Given the description of an element on the screen output the (x, y) to click on. 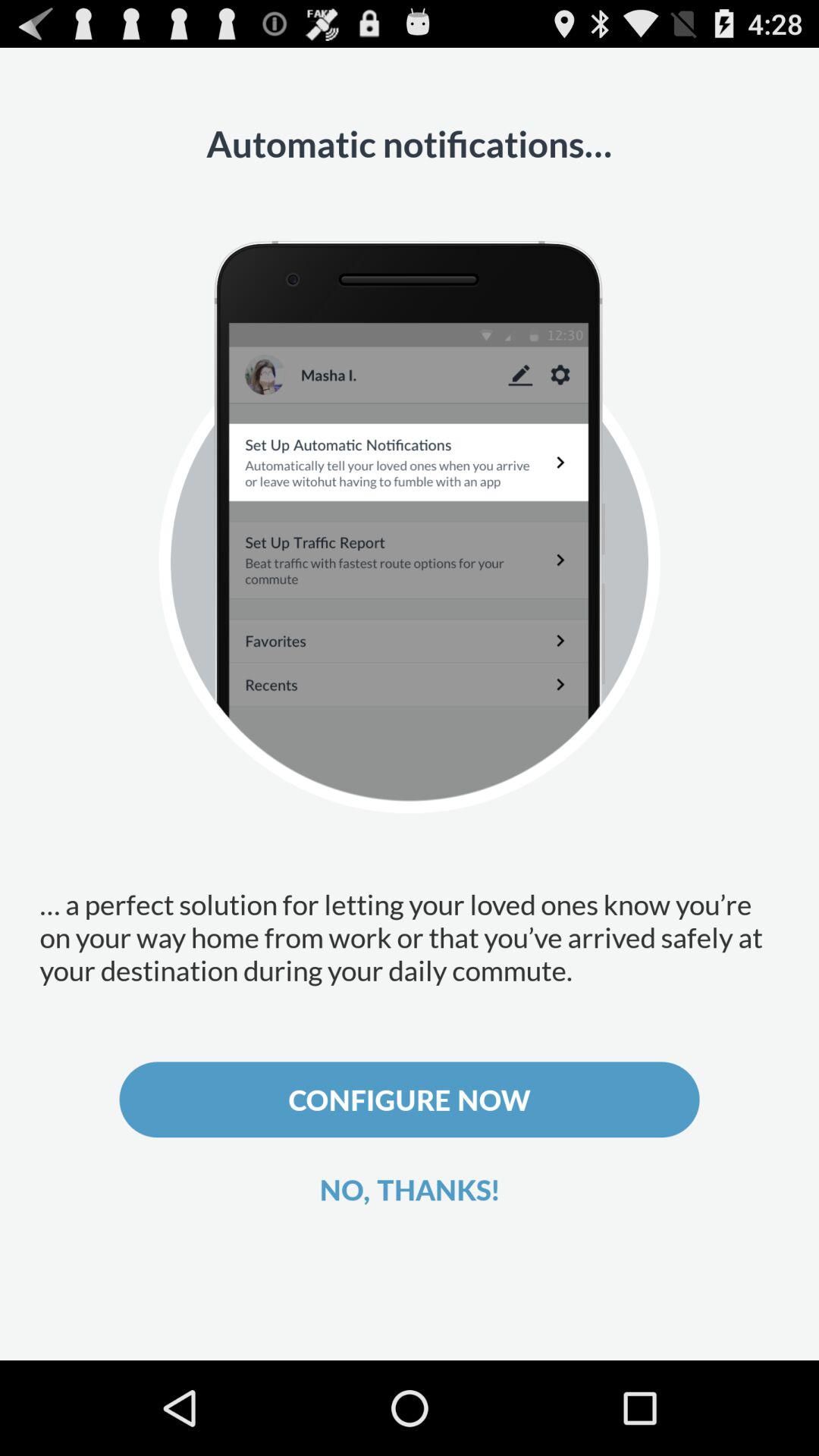
scroll until the configure now (409, 1099)
